Given the description of an element on the screen output the (x, y) to click on. 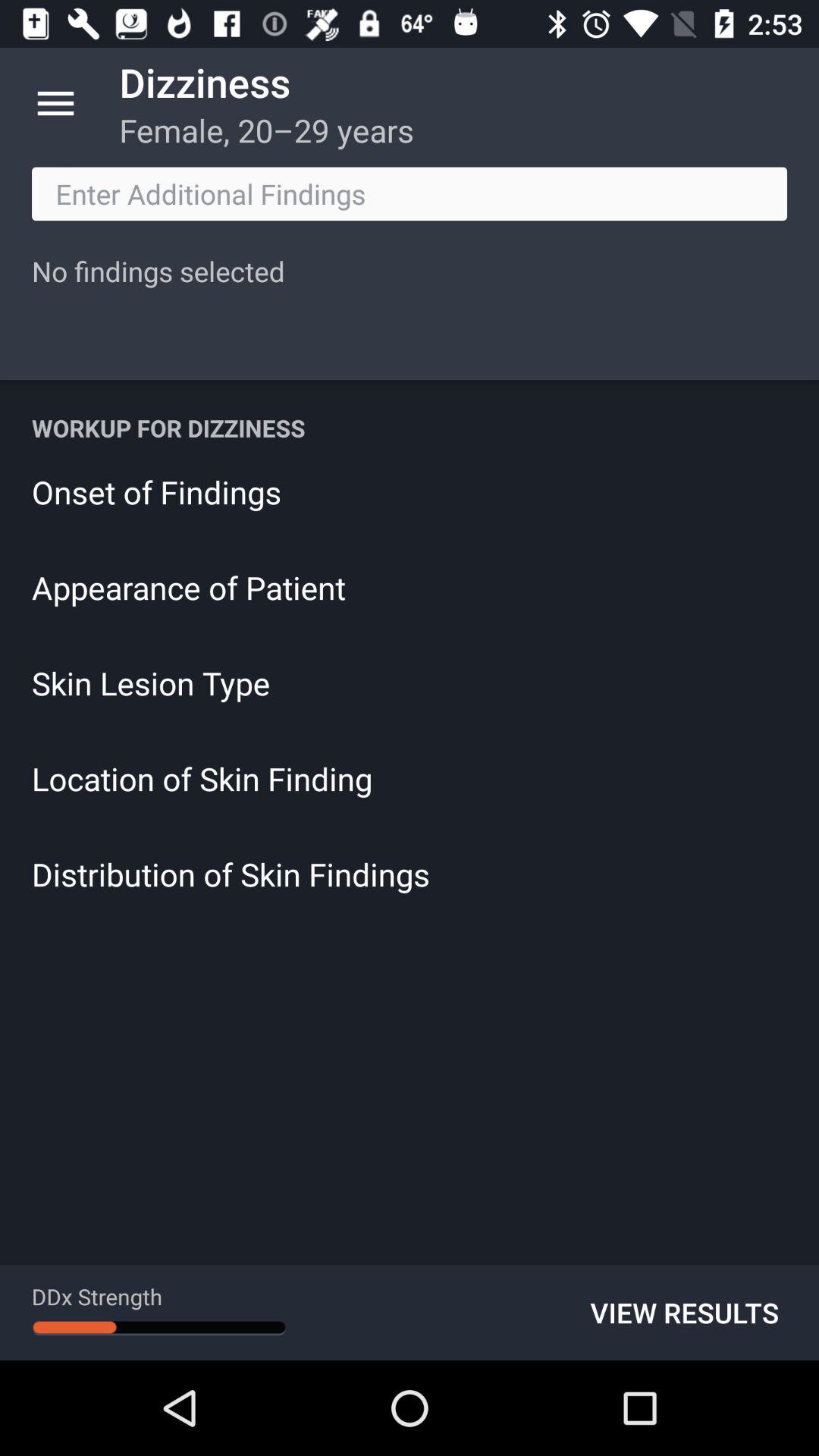
jump until view results item (684, 1312)
